Given the description of an element on the screen output the (x, y) to click on. 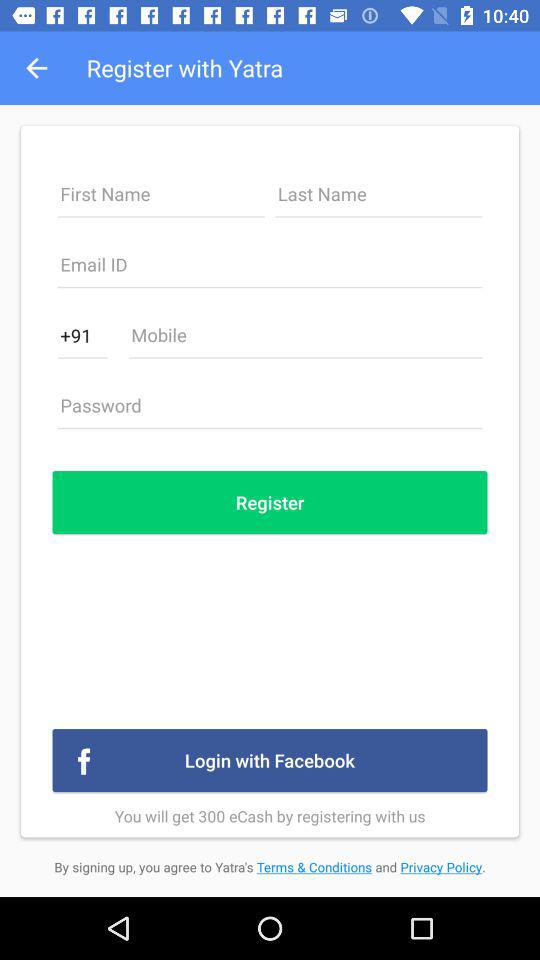
type phone number (305, 340)
